Given the description of an element on the screen output the (x, y) to click on. 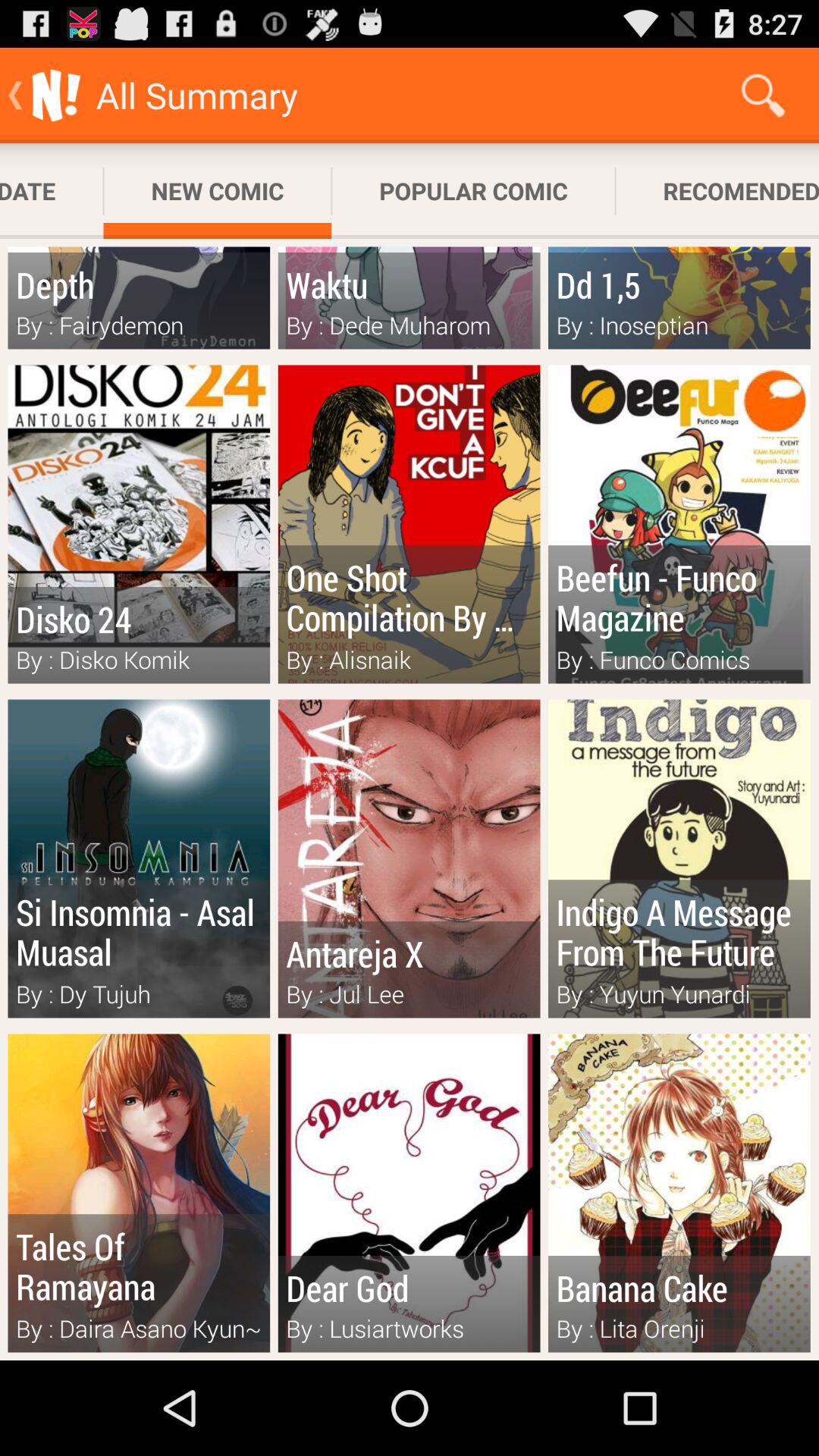
press icon to the left of the popular comic icon (217, 190)
